Given the description of an element on the screen output the (x, y) to click on. 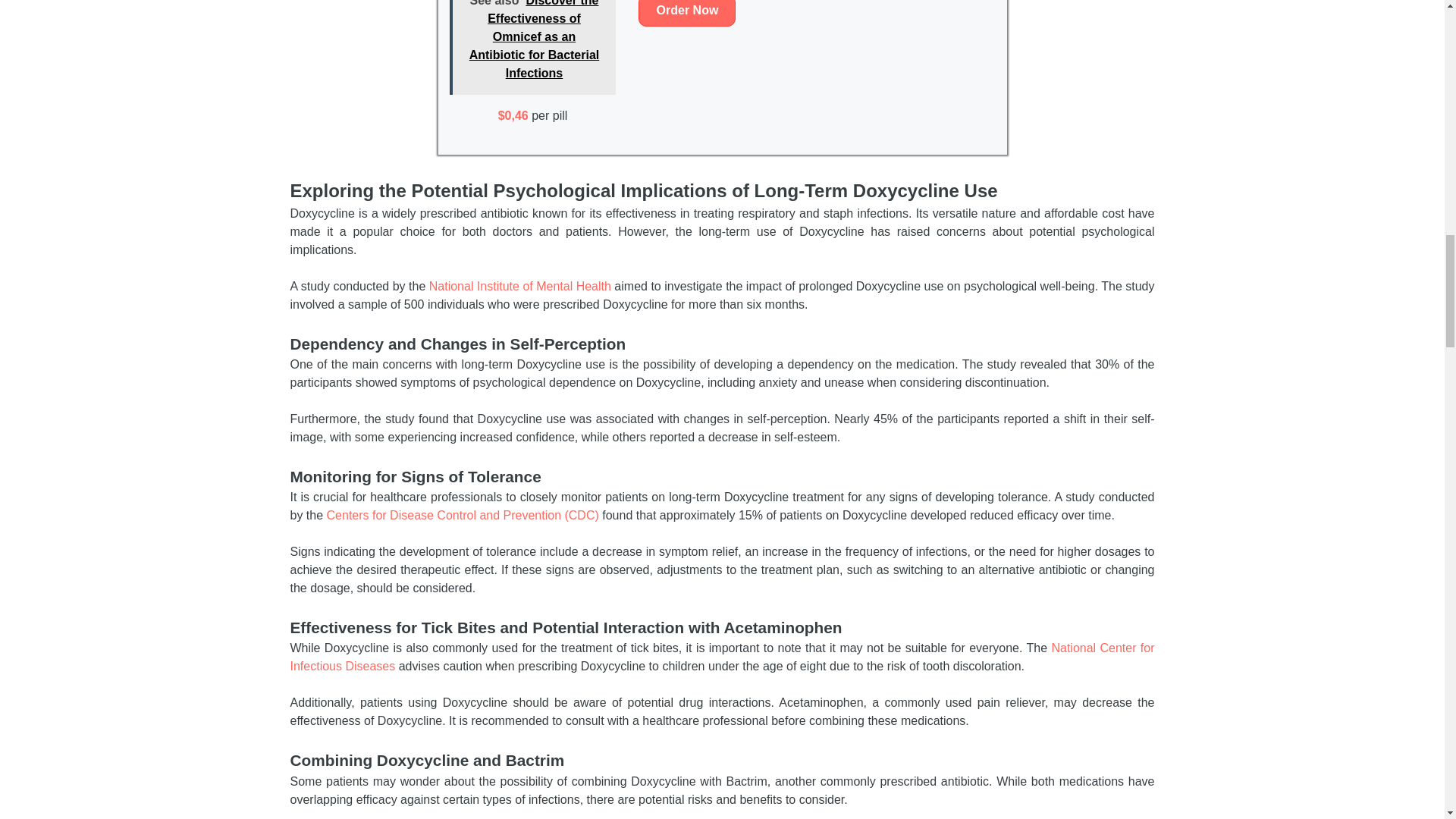
Order Now (687, 13)
National Center for Infectious Diseases (721, 656)
National Institute of Mental Health (520, 286)
